Given the description of an element on the screen output the (x, y) to click on. 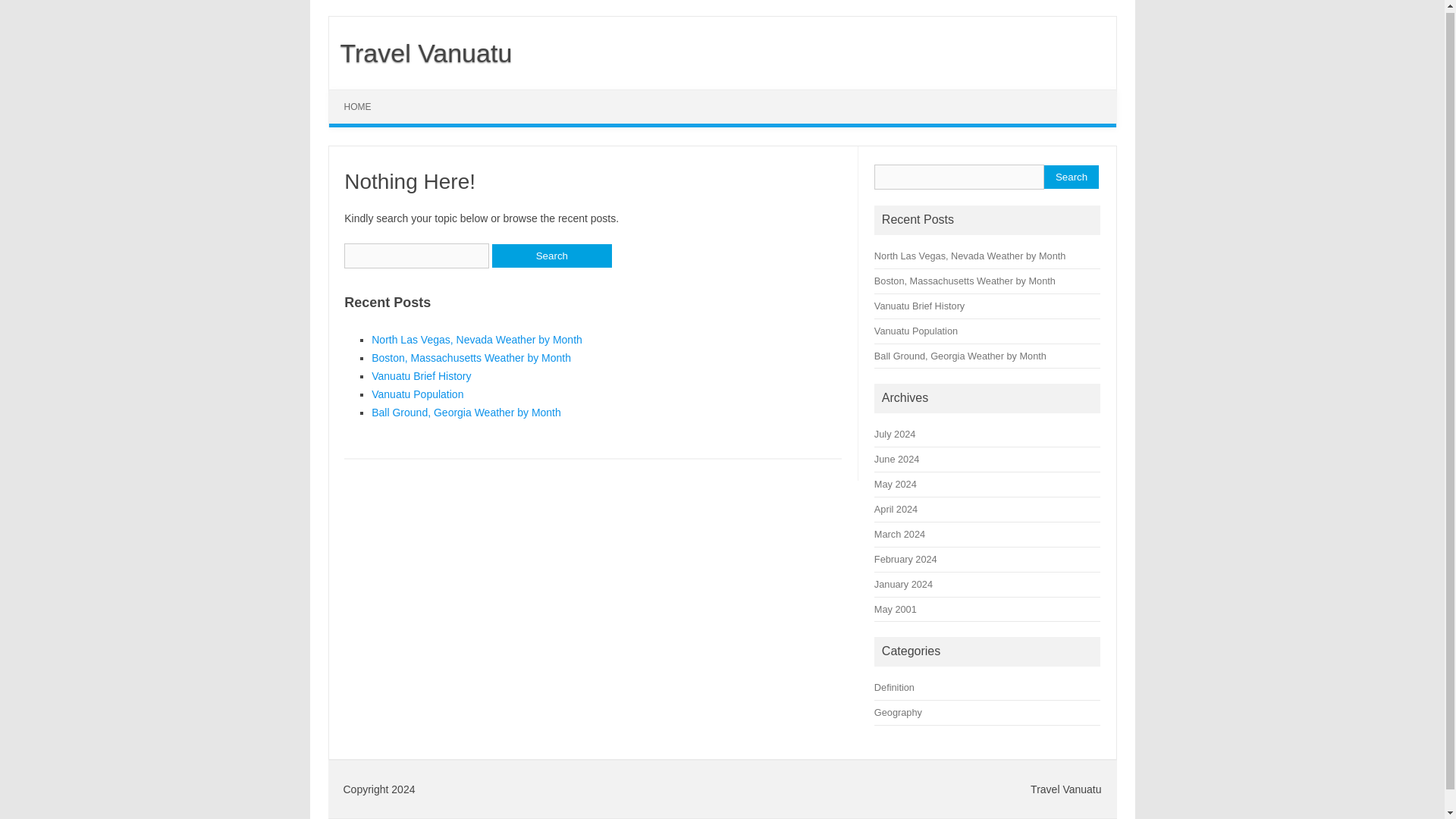
Skip to content (363, 94)
April 2024 (896, 509)
HOME (358, 106)
July 2024 (895, 433)
Search (551, 255)
Search (1070, 177)
North Las Vegas, Nevada Weather by Month (476, 339)
Travel Vanuatu (420, 52)
February 2024 (906, 559)
Vanuatu Population (417, 394)
January 2024 (904, 583)
Geography (898, 712)
Vanuatu Brief History (919, 306)
Ball Ground, Georgia Weather by Month (960, 355)
Vanuatu Population (916, 330)
